Given the description of an element on the screen output the (x, y) to click on. 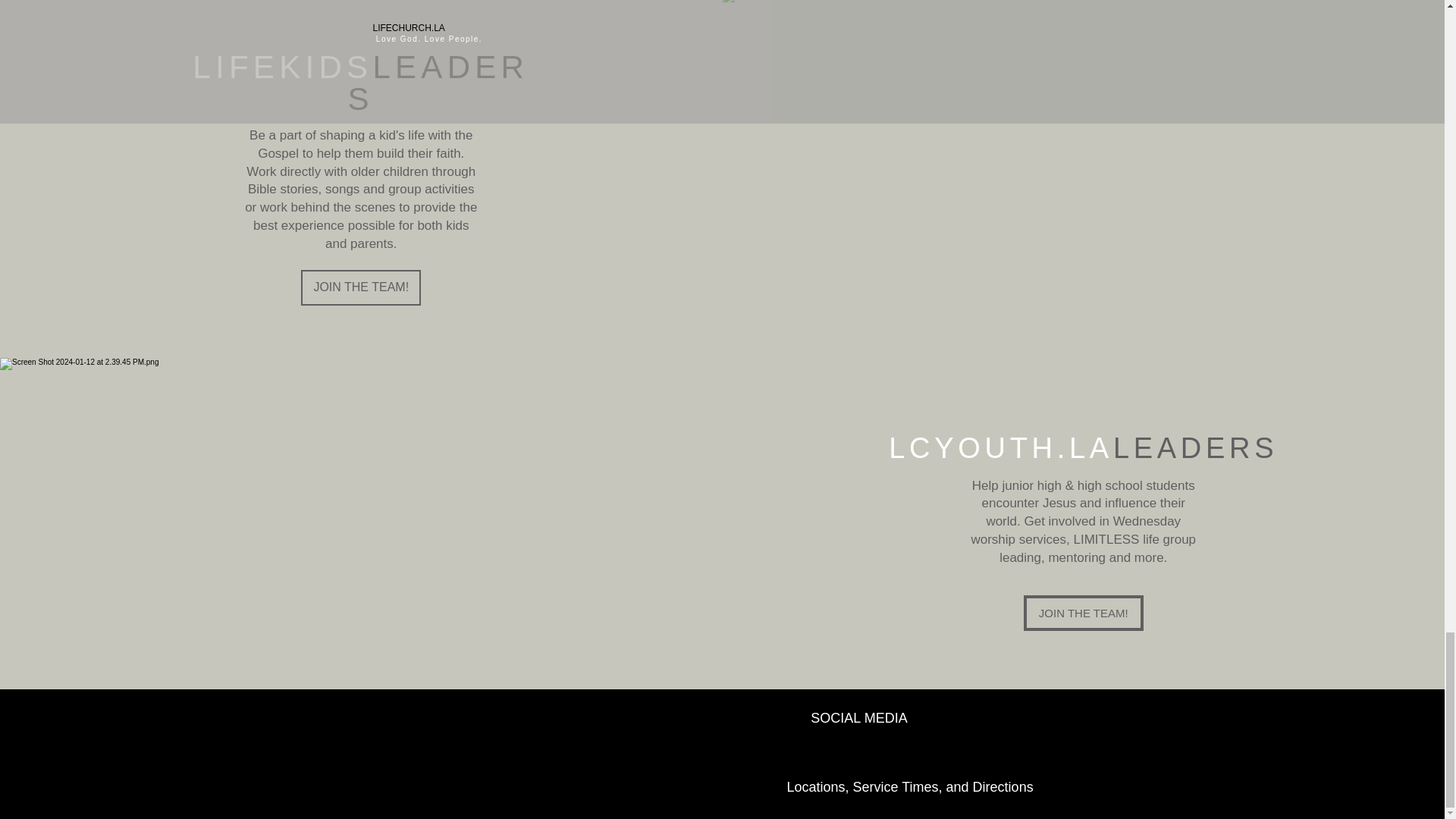
JOIN THE TEAM! (1082, 612)
JOIN THE TEAM! (360, 287)
Locations, Service Times, and Directions (910, 786)
